Given the description of an element on the screen output the (x, y) to click on. 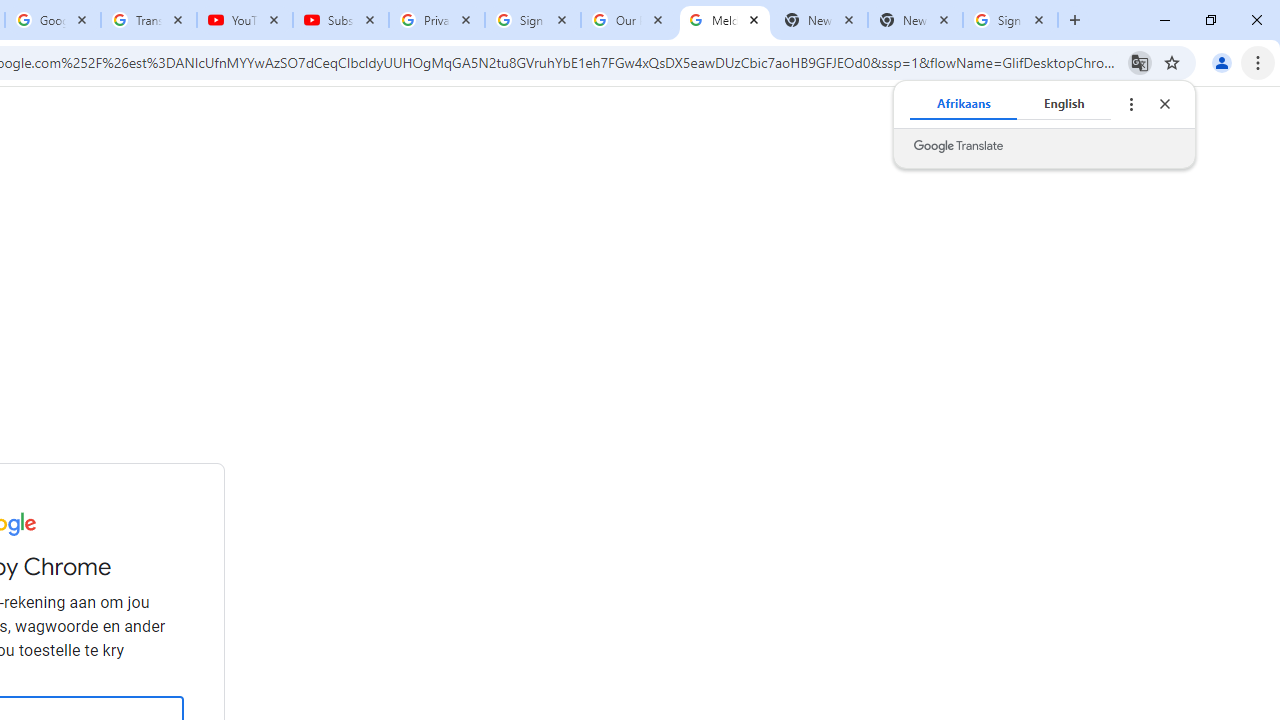
YouTube (245, 20)
Translate this page (1139, 62)
